Given the description of an element on the screen output the (x, y) to click on. 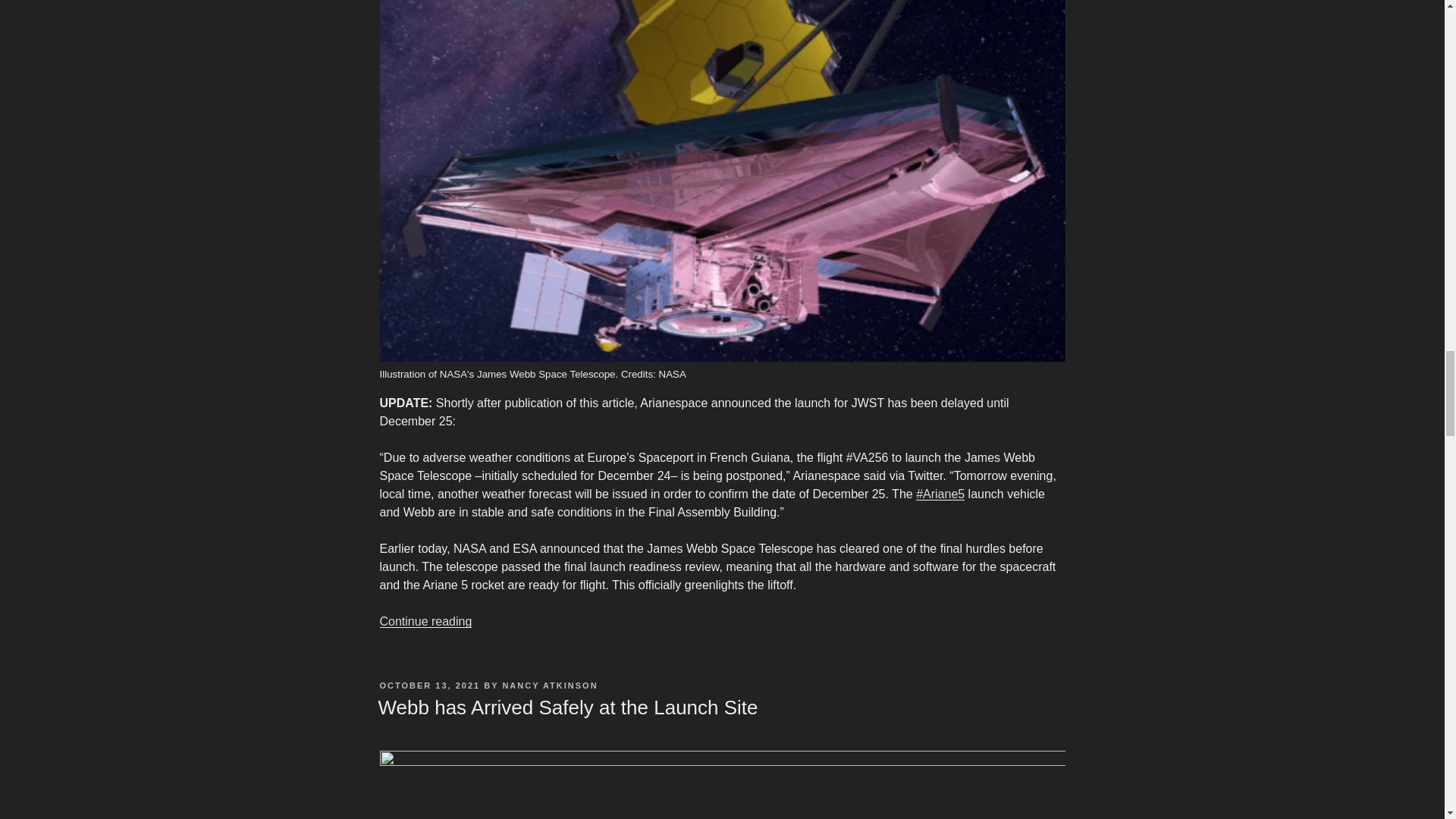
OCTOBER 13, 2021 (429, 685)
Webb has Arrived Safely at the Launch Site (567, 707)
NANCY ATKINSON (549, 685)
